Given the description of an element on the screen output the (x, y) to click on. 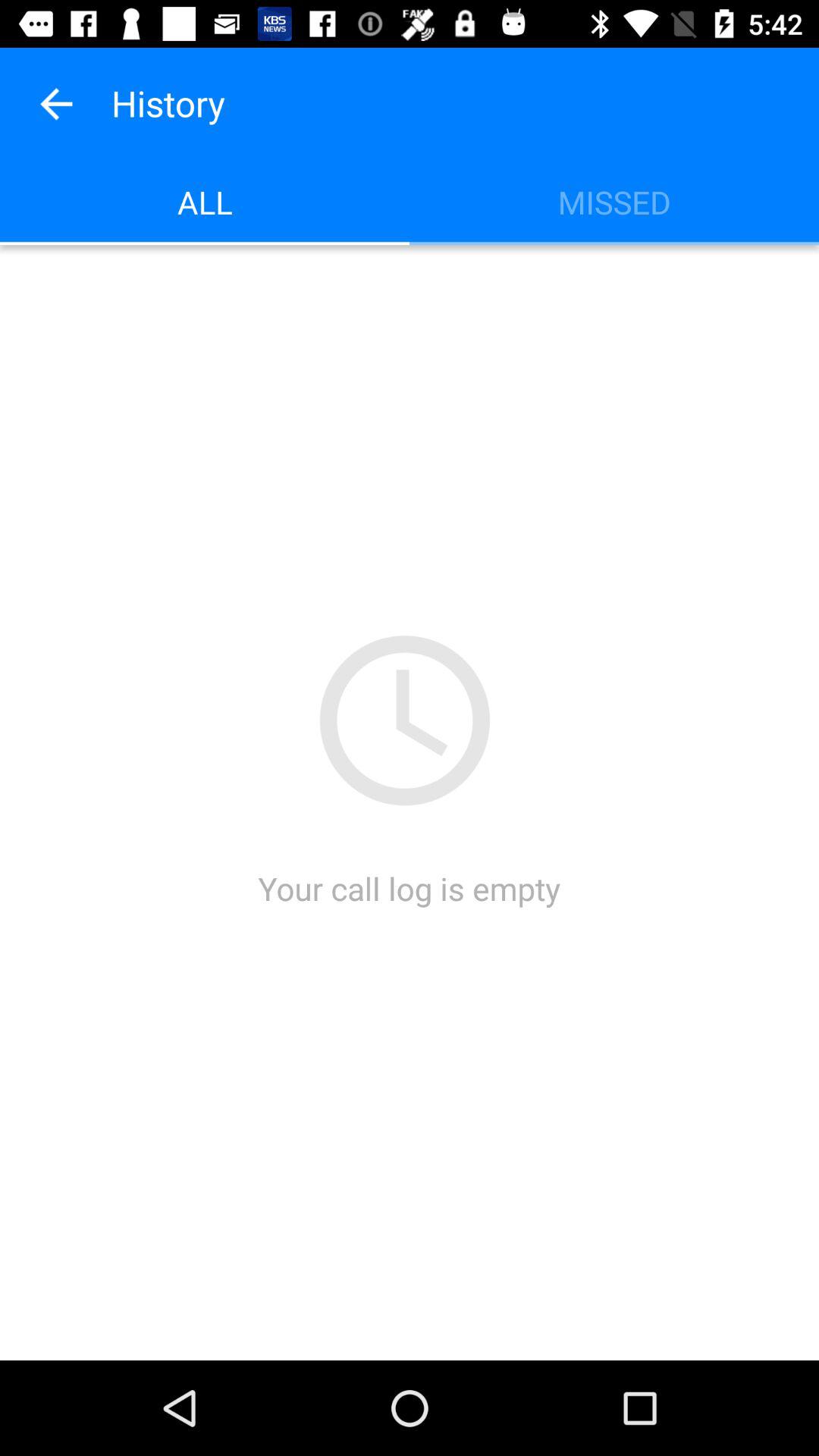
flip to the all item (204, 202)
